Given the description of an element on the screen output the (x, y) to click on. 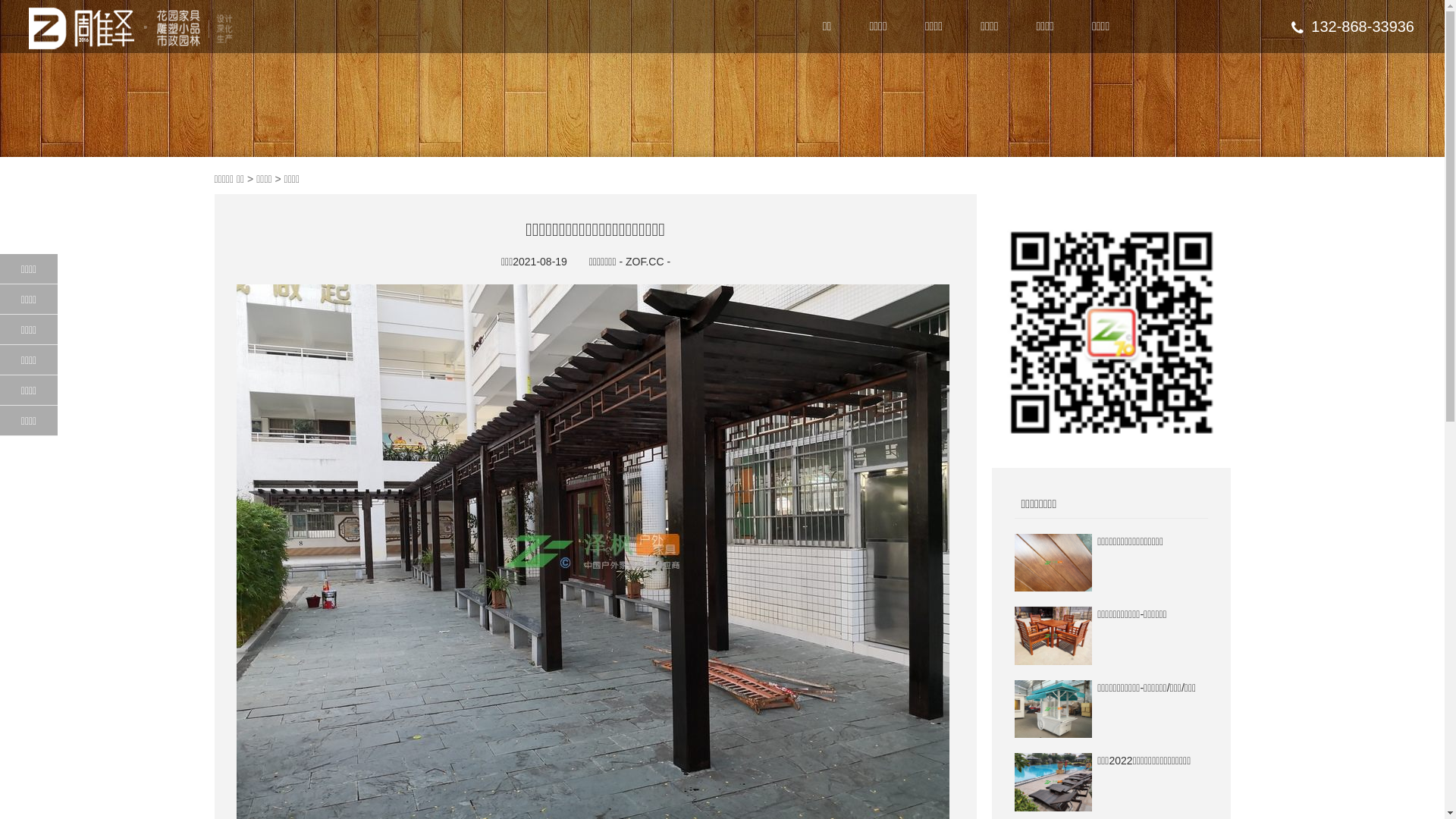
132-868-33936 Element type: text (1352, 26)
